Given the description of an element on the screen output the (x, y) to click on. 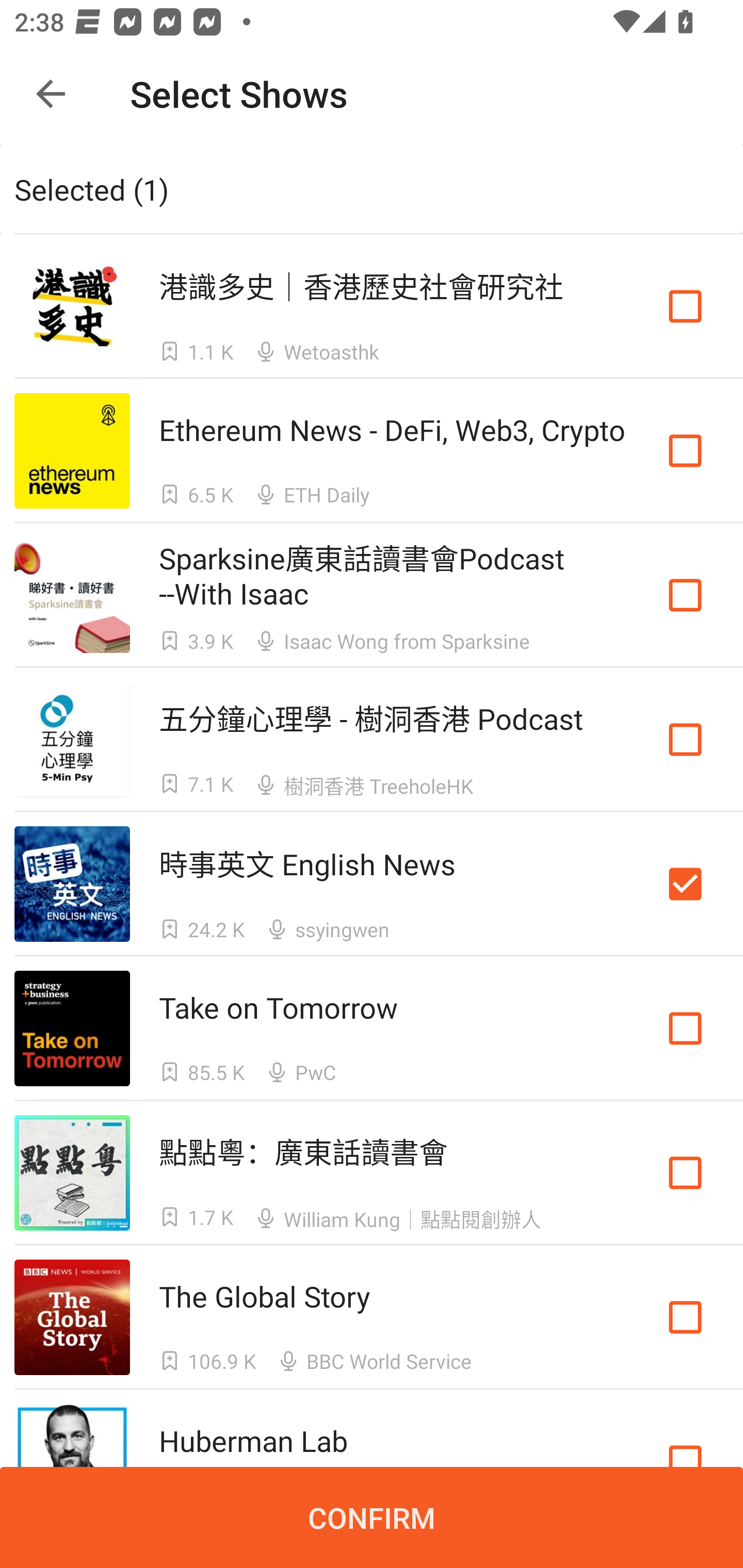
Navigate up (50, 93)
港識多史｜香港歷史社會研究社 港識多史｜香港歷史社會研究社  1.1 K  Wetoasthk (371, 305)
Take on Tomorrow Take on Tomorrow  85.5 K  PwC (371, 1028)
CONFIRM (371, 1517)
